Given the description of an element on the screen output the (x, y) to click on. 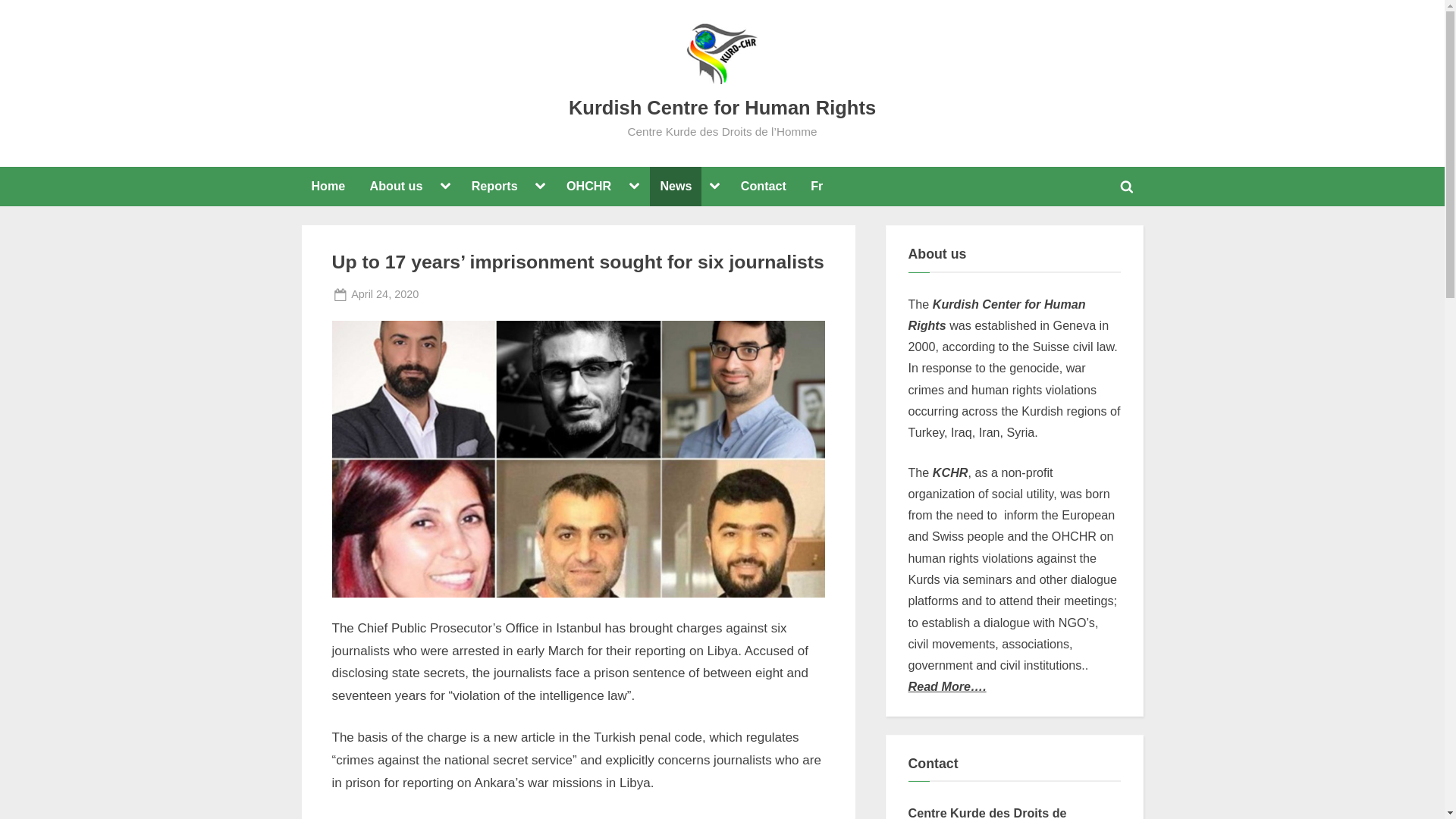
About us (395, 186)
News (675, 186)
Toggle sub-menu (634, 186)
Toggle sub-menu (714, 186)
Toggle sub-menu (540, 186)
Home (328, 186)
Reports (494, 186)
Contact (763, 186)
OHCHR (588, 186)
Toggle search form (455, 294)
Toggle sub-menu (1126, 185)
Kurdish Centre for Human Rights (384, 294)
